Given the description of an element on the screen output the (x, y) to click on. 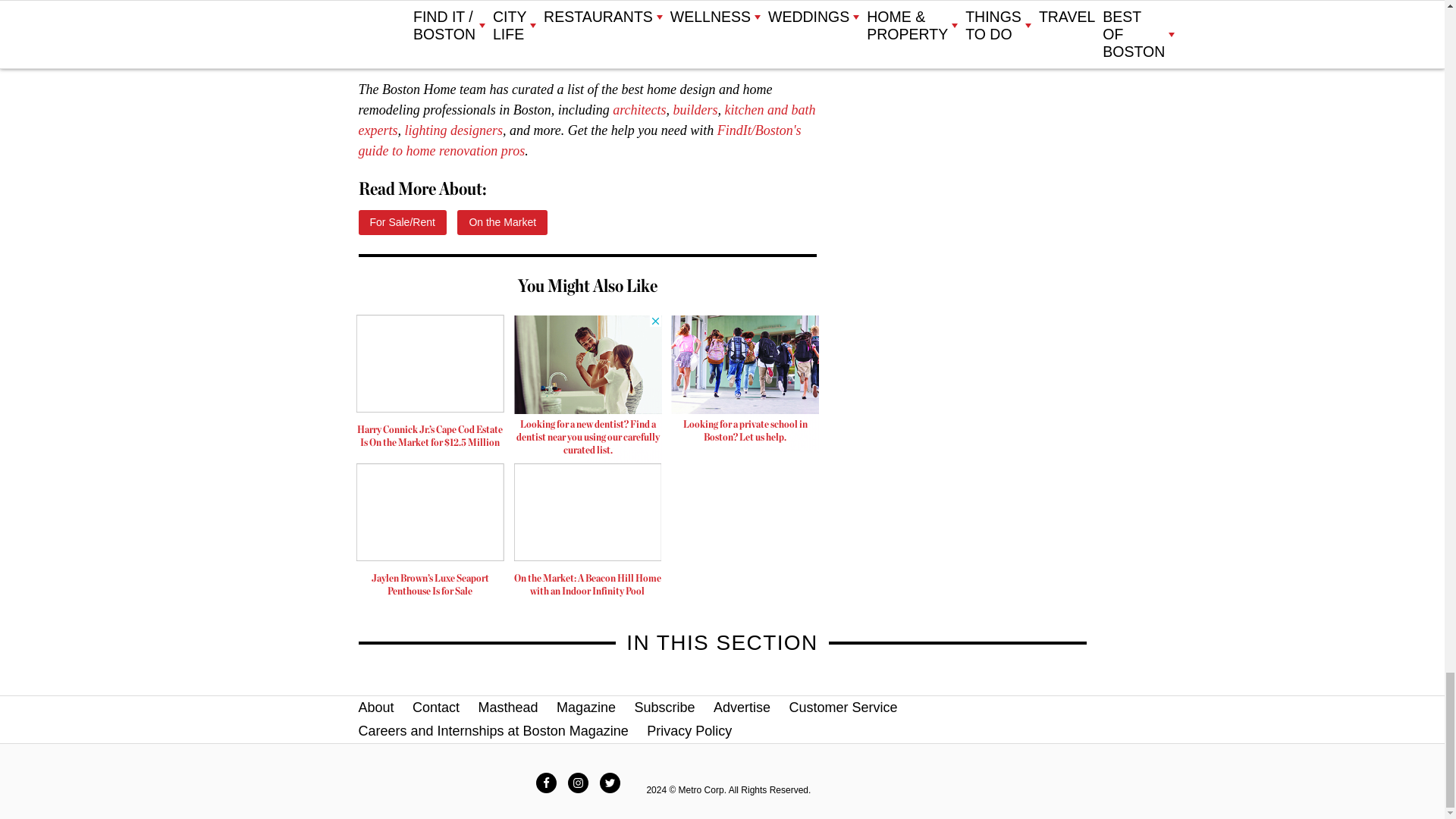
3rd party ad content (587, 388)
3rd party ad content (744, 382)
